Given the description of an element on the screen output the (x, y) to click on. 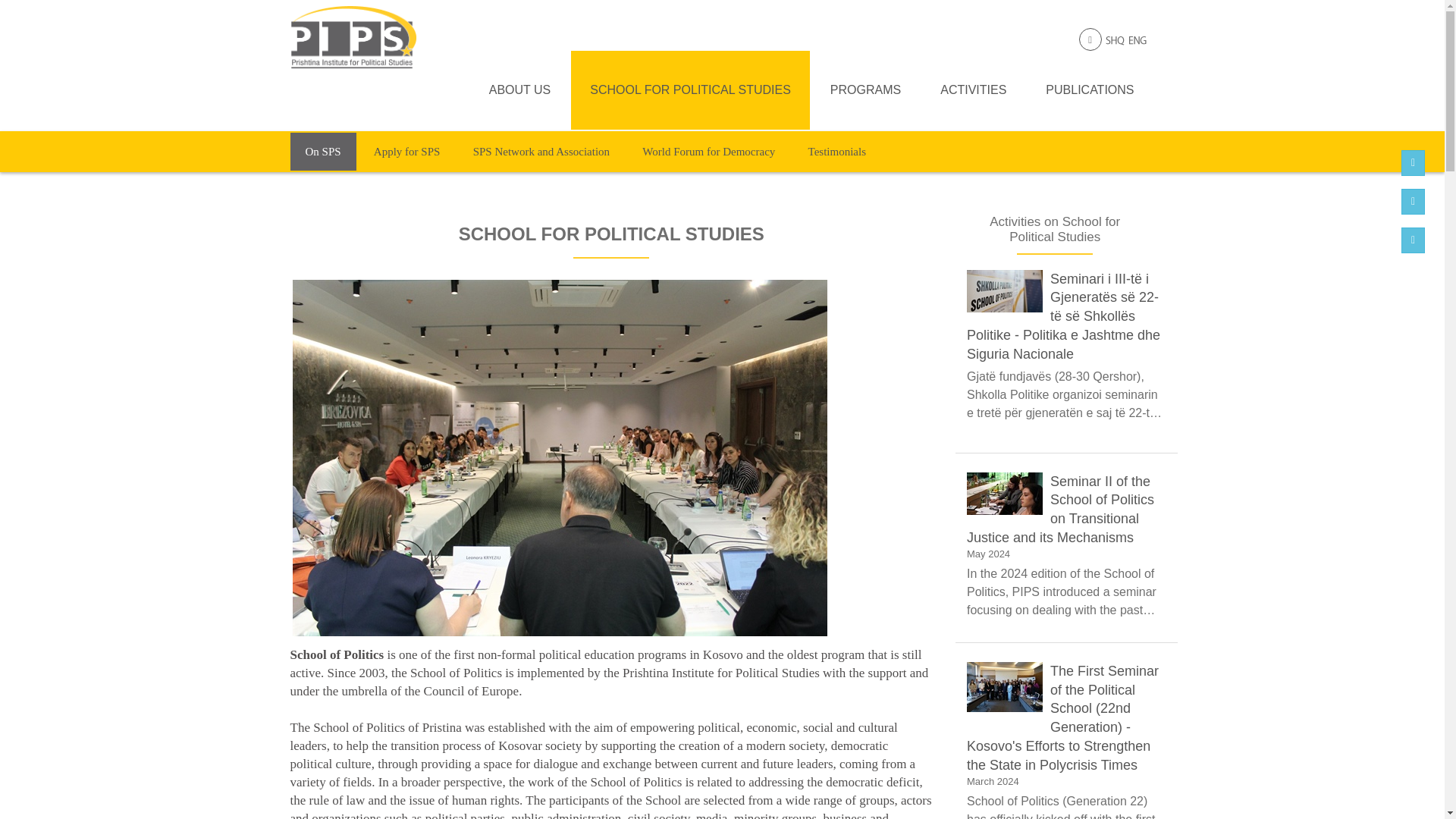
Apply for SPS (406, 151)
World Forum for Democracy (708, 151)
ABOUT US (520, 89)
SCHOOL FOR POLITICAL STUDIES (689, 89)
Testimonials (836, 151)
SPS Network and Association (541, 151)
On SPS (322, 151)
PROGRAMS (865, 89)
Apply for SPS (406, 151)
On SPS (322, 151)
ACTIVITIES (973, 89)
PUBLICATIONS (1089, 89)
SPS Network and Association (541, 151)
World Forum for Democracy (708, 151)
Testimonials (836, 151)
